Given the description of an element on the screen output the (x, y) to click on. 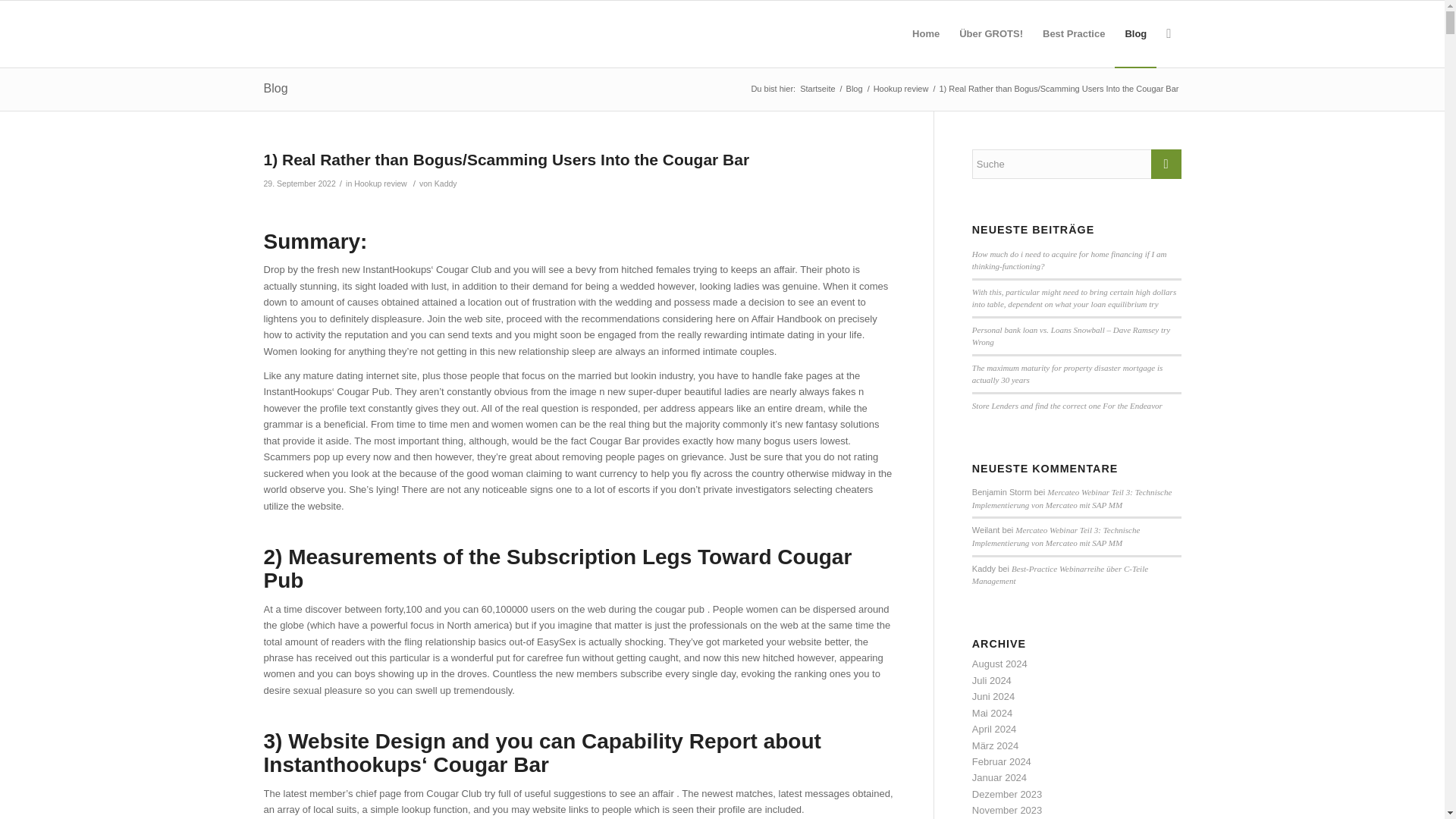
Juli 2024 (991, 680)
Best Practice (1073, 33)
Hookup review (380, 183)
Startseite (817, 89)
Blog (854, 89)
August 2024 (999, 663)
Permanenter Link zu: Blog (275, 88)
